Given the description of an element on the screen output the (x, y) to click on. 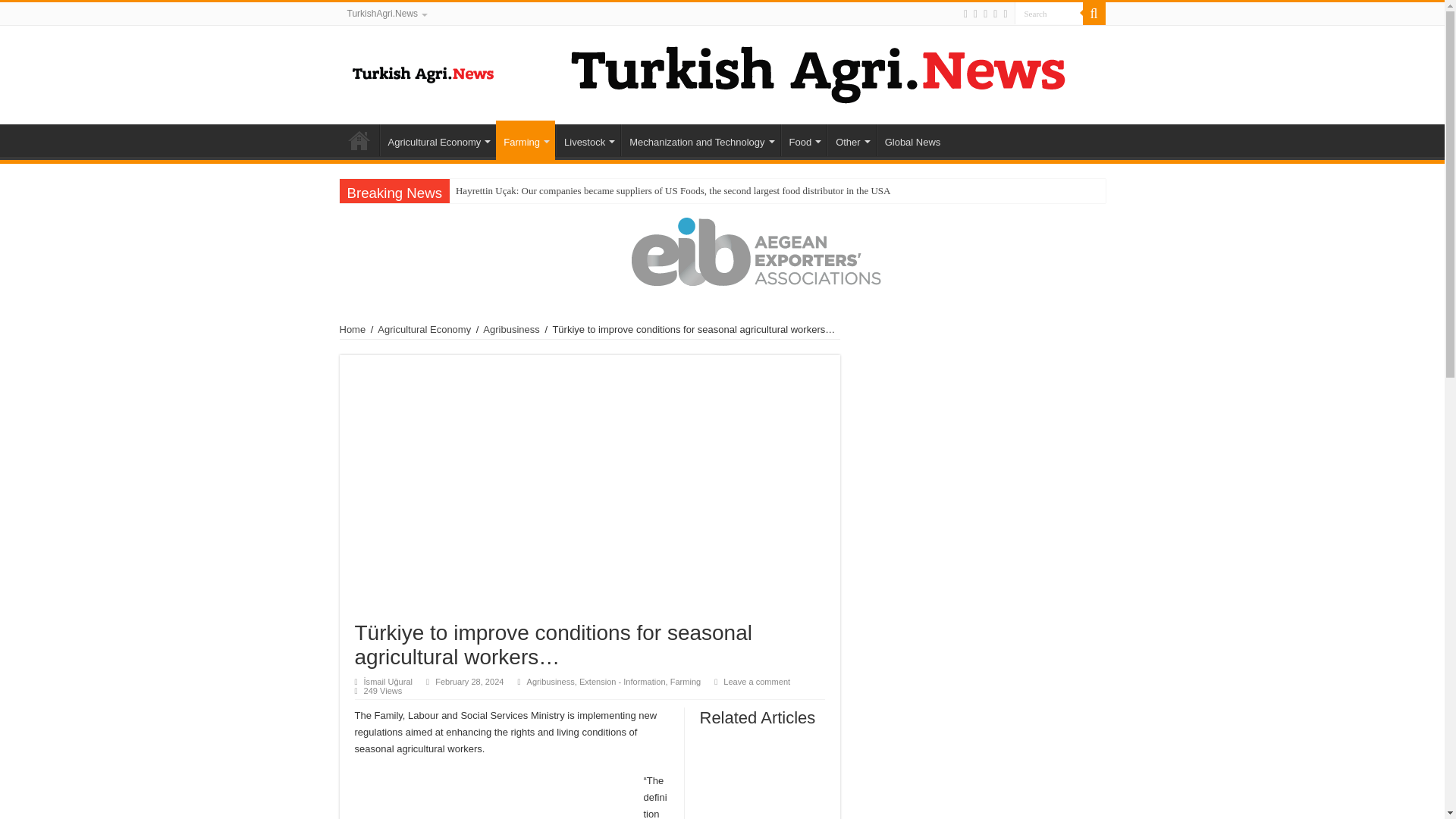
Farming (525, 139)
TurkishAgri.News (386, 13)
Search (1048, 13)
Home (358, 140)
Agricultural Economy (437, 140)
Search (1048, 13)
Search (1048, 13)
Livestock (588, 140)
Search (1094, 13)
